Given the description of an element on the screen output the (x, y) to click on. 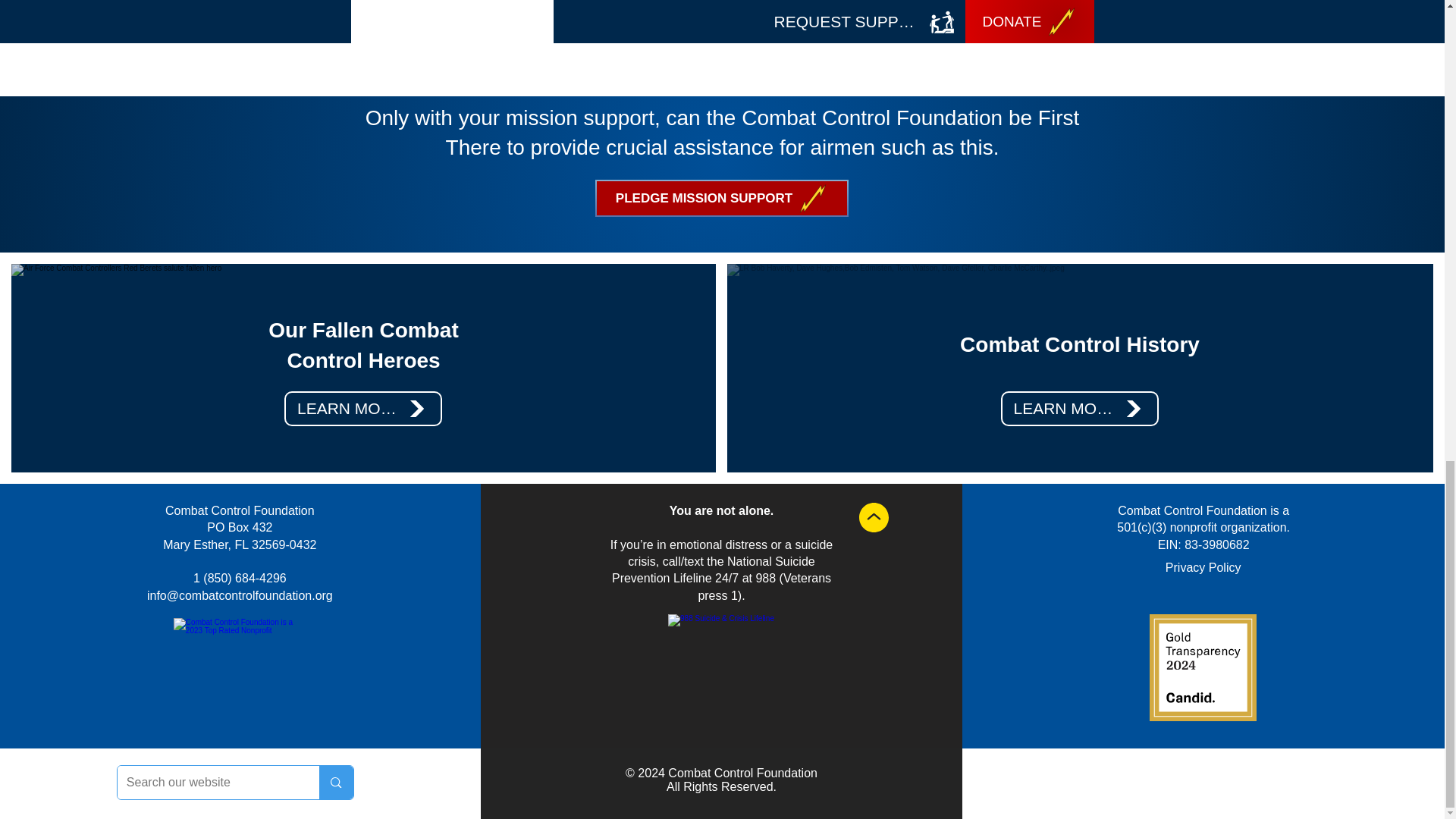
Privacy Policy (1203, 567)
LEARN MORE (1079, 408)
PLEDGE MISSION SUPPORT (720, 198)
LEARN MORE (362, 408)
